Given the description of an element on the screen output the (x, y) to click on. 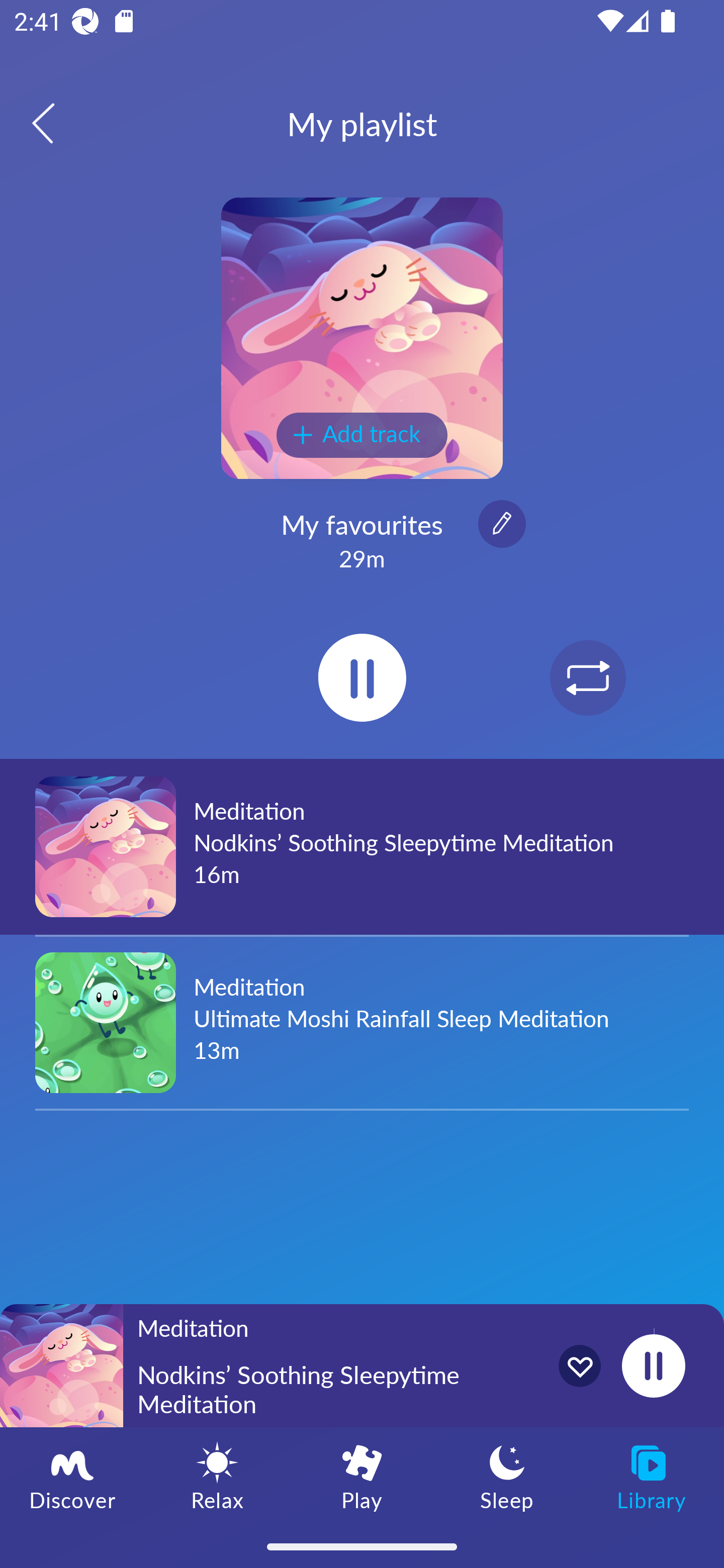
Add track (361, 434)
0.0020833334 Pause (653, 1365)
Discover (72, 1475)
Relax (216, 1475)
Play (361, 1475)
Sleep (506, 1475)
